Given the description of an element on the screen output the (x, y) to click on. 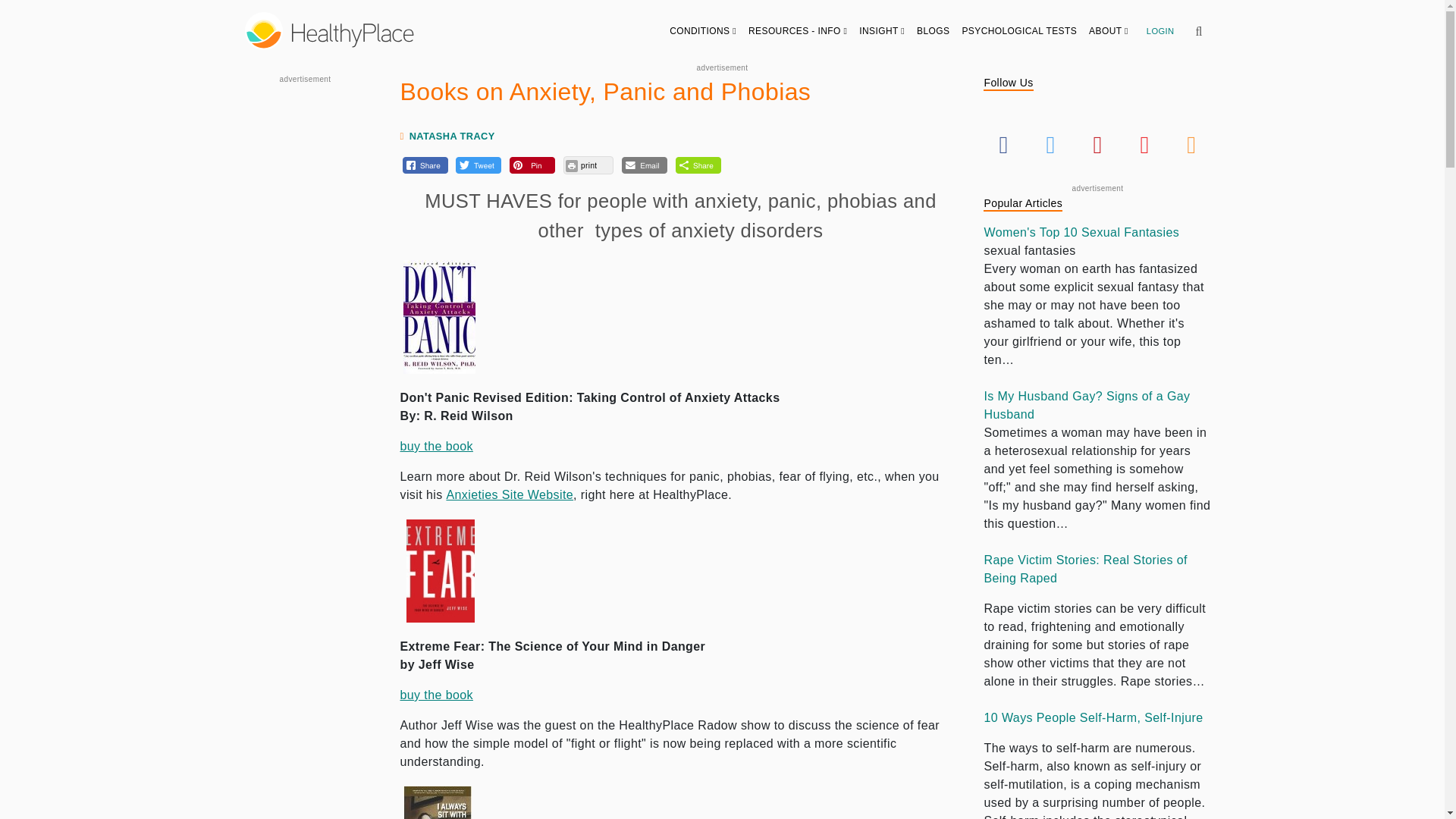
Dr. Reid Wilson Anxieties Site Website (509, 494)
INSIGHT (882, 31)
RESOURCES - INFO (797, 31)
CONDITIONS (702, 31)
